Given the description of an element on the screen output the (x, y) to click on. 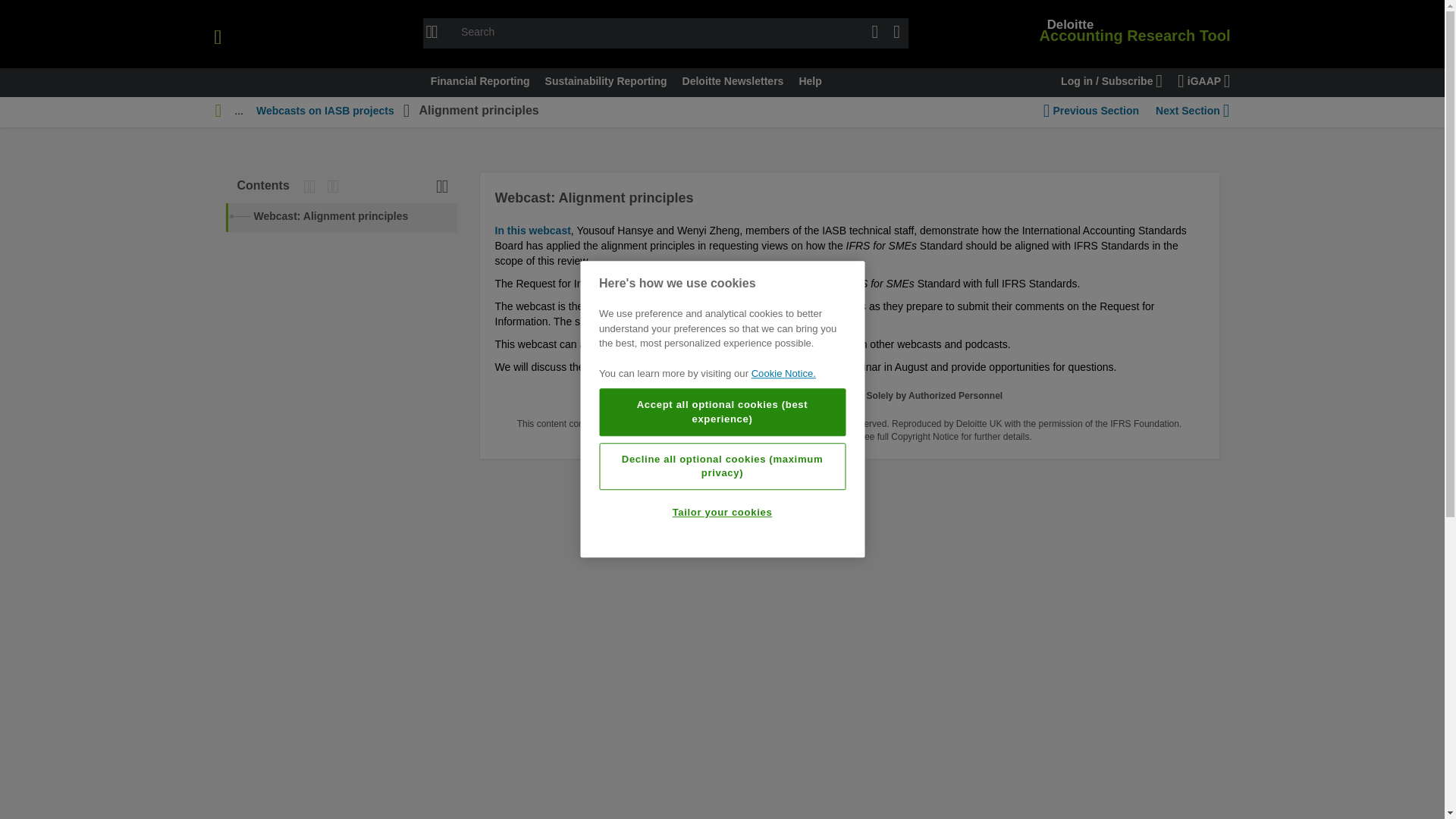
Financial Reporting (480, 82)
Collapse contents (445, 187)
Saved Searches (896, 32)
Expand all (312, 187)
Deloitte Newsletters (733, 82)
Search tips (434, 32)
Search (875, 32)
You are here (218, 112)
Sustainability Reporting (606, 82)
iGAAP (1203, 82)
Help (809, 82)
Collapse all (335, 187)
